Given the description of an element on the screen output the (x, y) to click on. 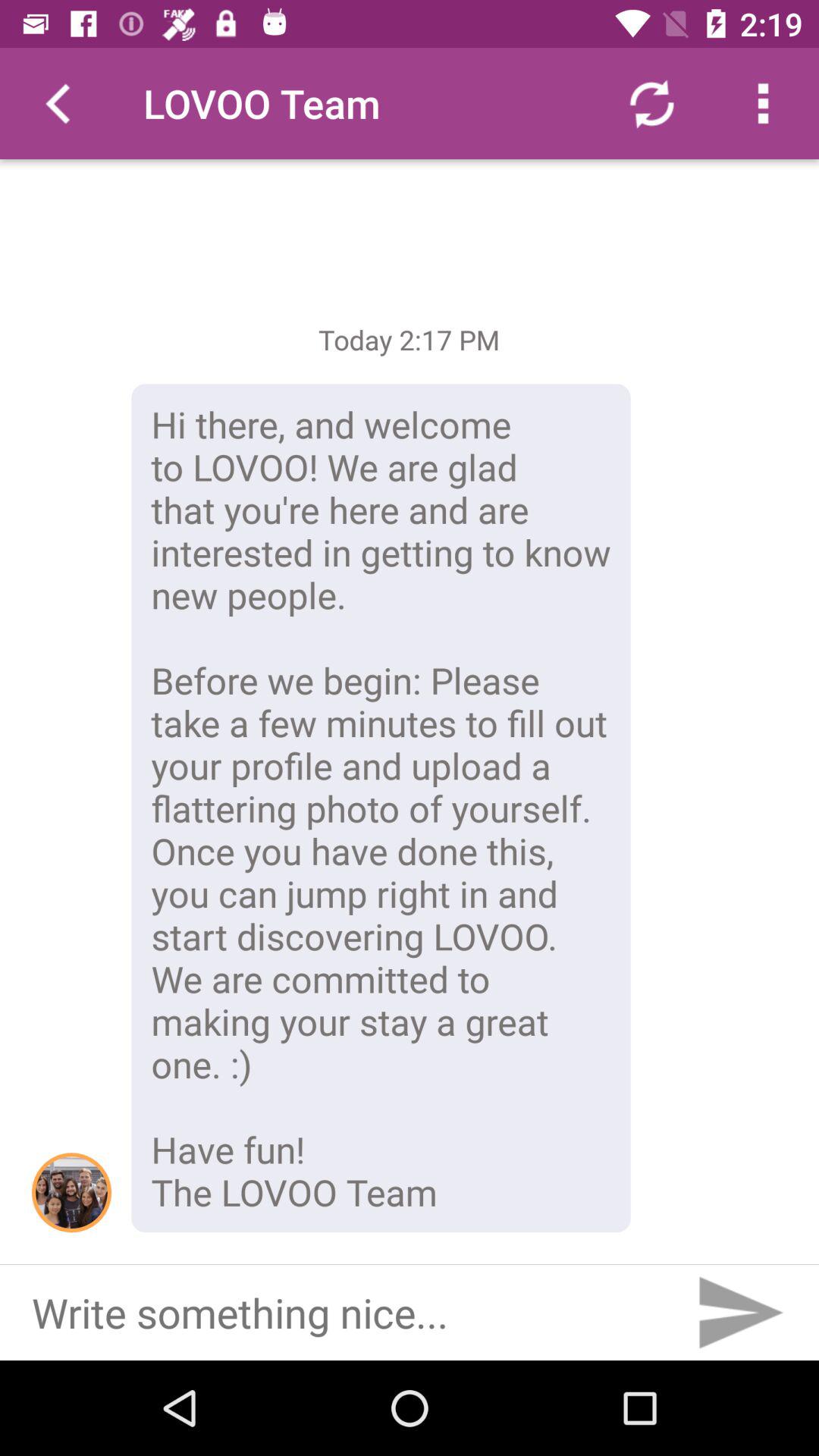
turn off app next to lovoo team (651, 103)
